Given the description of an element on the screen output the (x, y) to click on. 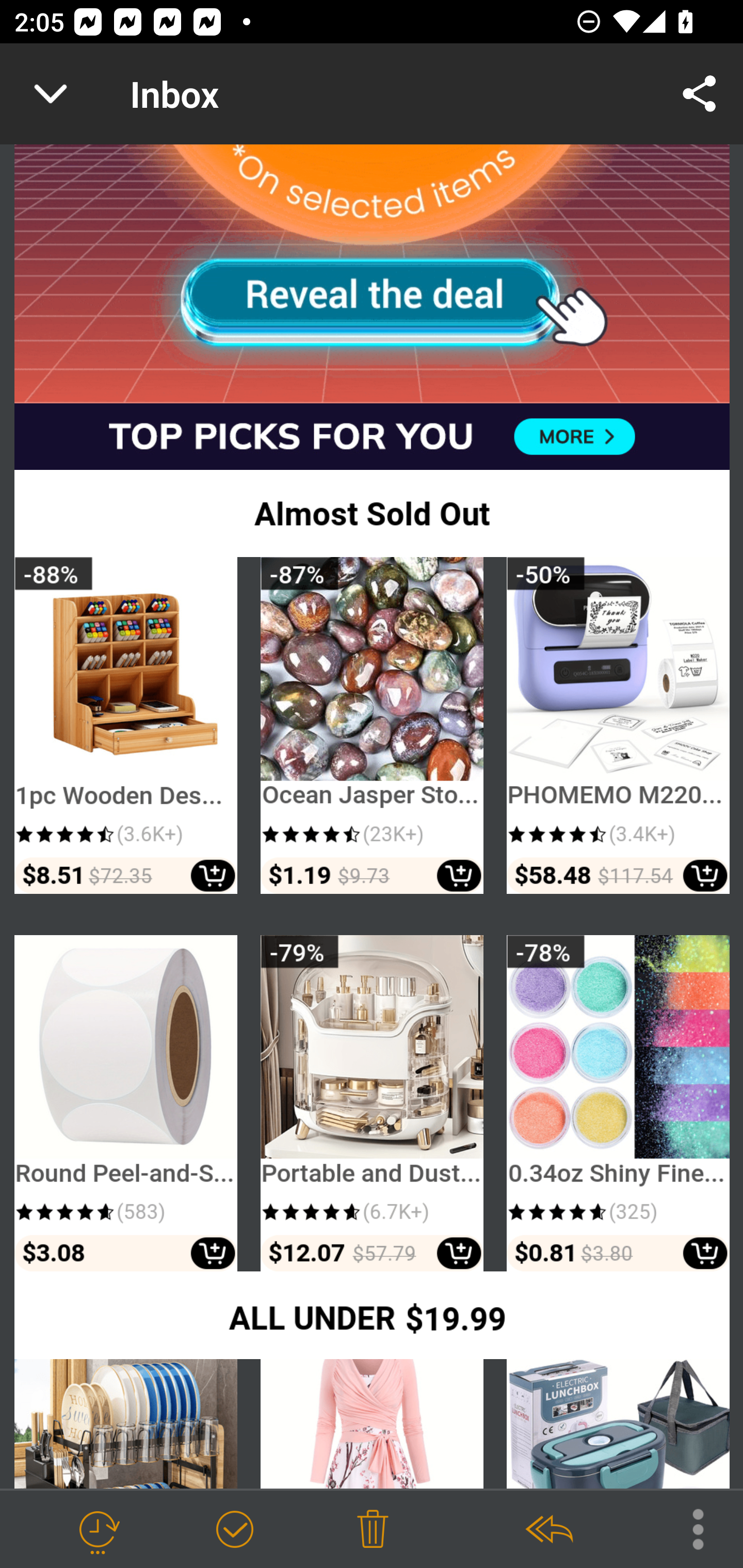
Navigate up (50, 93)
Share (699, 93)
b57e34972bcbfa1b19ebc9d9493bcf96 (372, 274)
61083c387b33be09d59b98f4f2329854 (372, 436)
   (372, 513)
mbs_landing_goods (126, 725)
mbs_landing_goods (371, 725)
mbs_landing_goods (618, 725)
mbs_landing_goods (126, 1103)
mbs_landing_goods (371, 1103)
mbs_landing_goods (618, 1103)
   (372, 1316)
mbs_landing_goods (126, 1424)
mbs_landing_goods (371, 1424)
mbs_landing_goods (618, 1424)
More Options (687, 1528)
Snooze (97, 1529)
Mark as Done (234, 1529)
Delete (372, 1529)
Reply All (548, 1529)
